Given the description of an element on the screen output the (x, y) to click on. 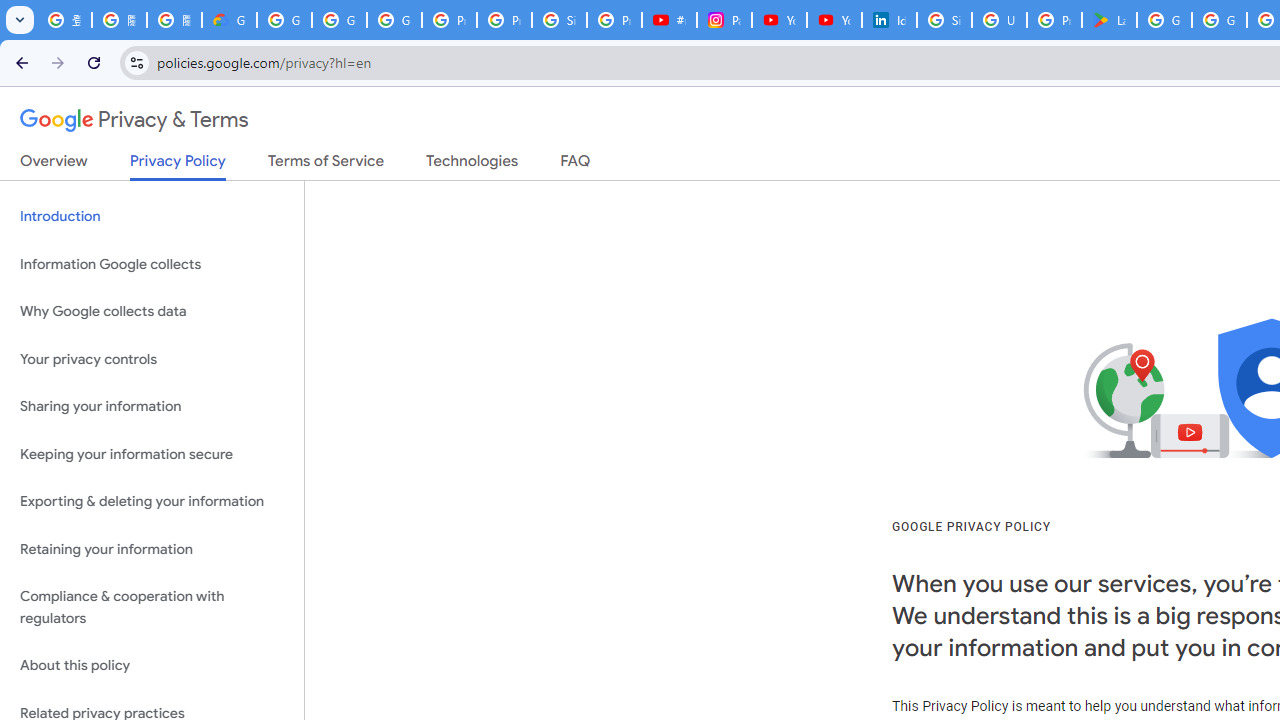
Google Workspace - Specific Terms (1218, 20)
Sign in - Google Accounts (559, 20)
Sign in - Google Accounts (943, 20)
